Given the description of an element on the screen output the (x, y) to click on. 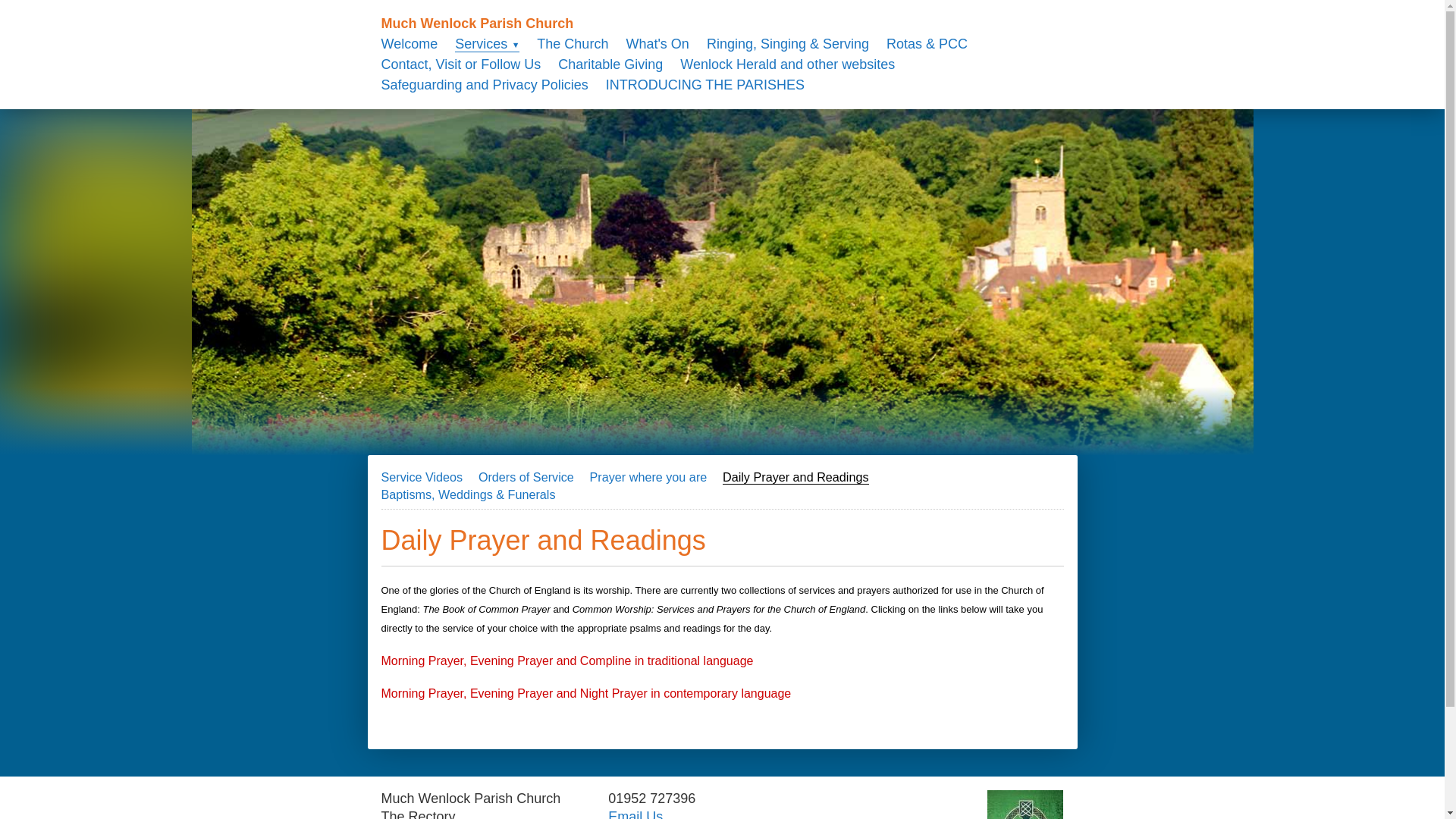
Safeguarding and Privacy Policies (484, 84)
The Church (572, 44)
Wenlock Herald and other websites (787, 64)
Email Us (635, 814)
INTRODUCING THE PARISHES (705, 84)
Charitable Giving (609, 64)
Service Videos (421, 477)
Contact, Visit or Follow Us (460, 64)
What's On (657, 44)
Welcome (409, 44)
